Given the description of an element on the screen output the (x, y) to click on. 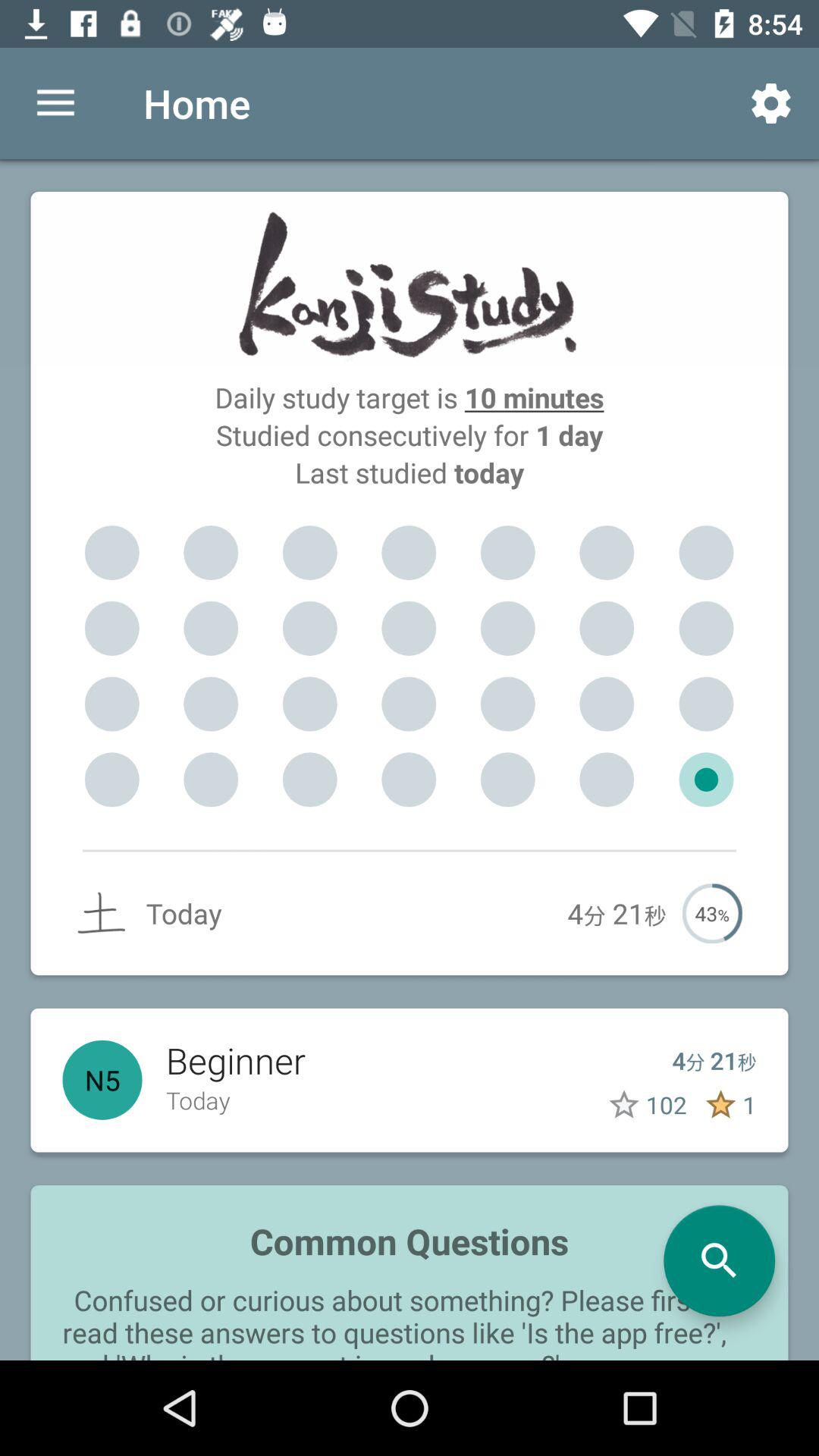
search button (719, 1260)
